Given the description of an element on the screen output the (x, y) to click on. 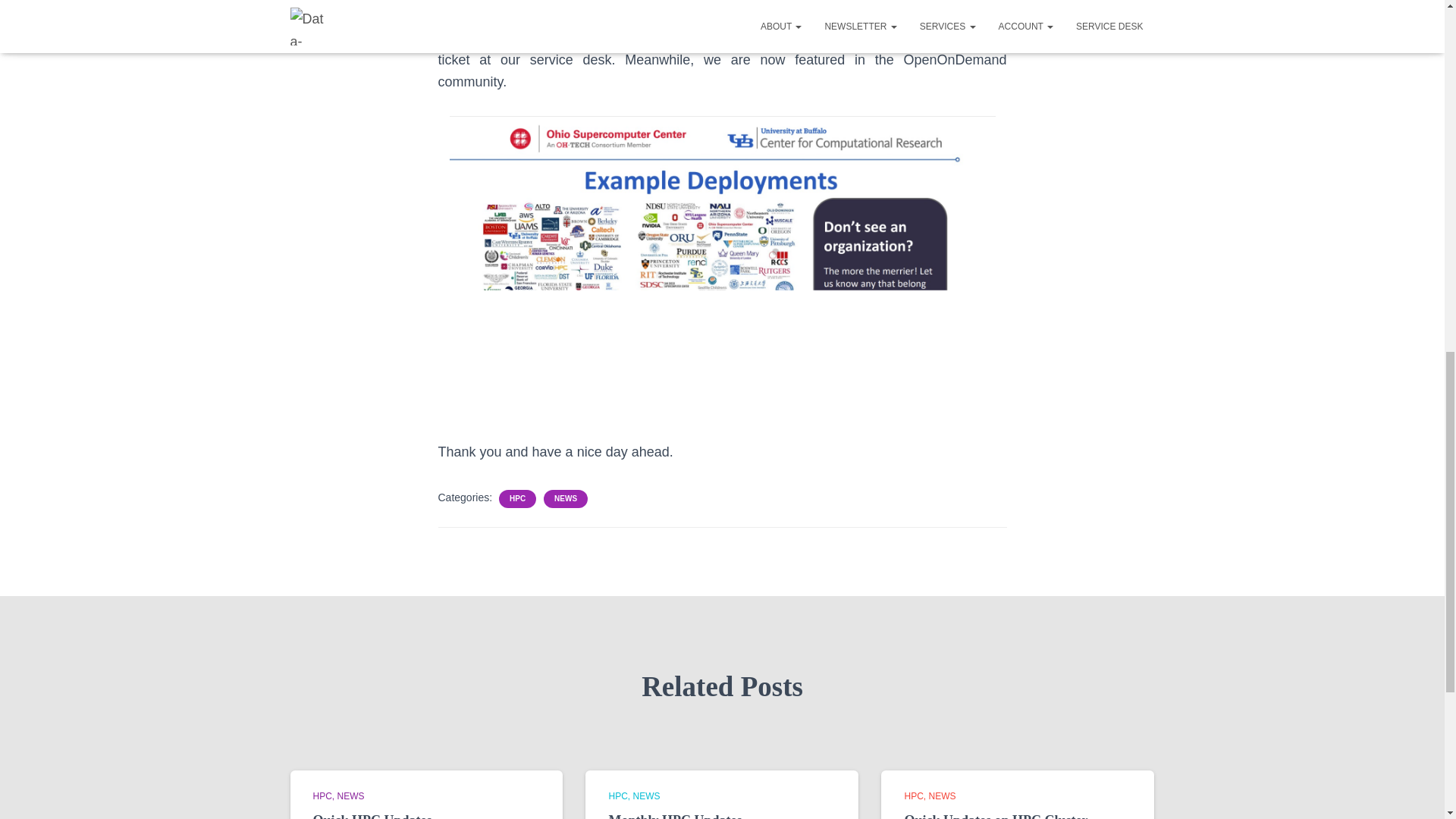
Quick Updates on HPC Cluster (995, 816)
NEWS (565, 498)
HPC (324, 796)
NEWS (351, 796)
HPC (517, 498)
NEWS (941, 796)
HPC (916, 796)
NEWS (645, 796)
Quick HPC Updates (371, 816)
Monthly HPC Updates (674, 816)
HPC (619, 796)
